Given the description of an element on the screen output the (x, y) to click on. 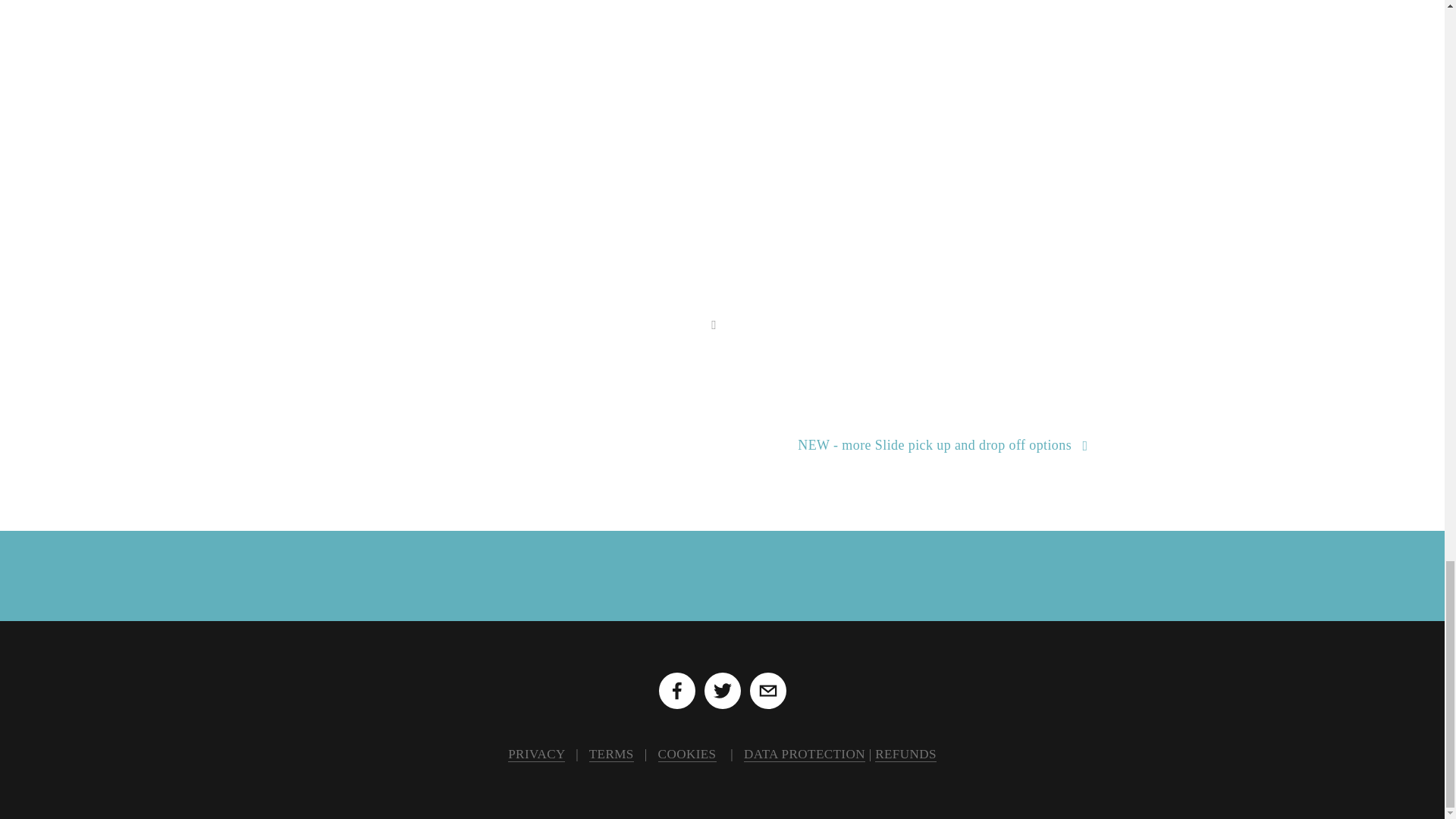
PRIVACY (536, 754)
TERMS (611, 754)
REFUNDS (905, 754)
NEW - more Slide pick up and drop off options (722, 445)
DATA PROTECTION (804, 754)
COOKIES (687, 754)
